Given the description of an element on the screen output the (x, y) to click on. 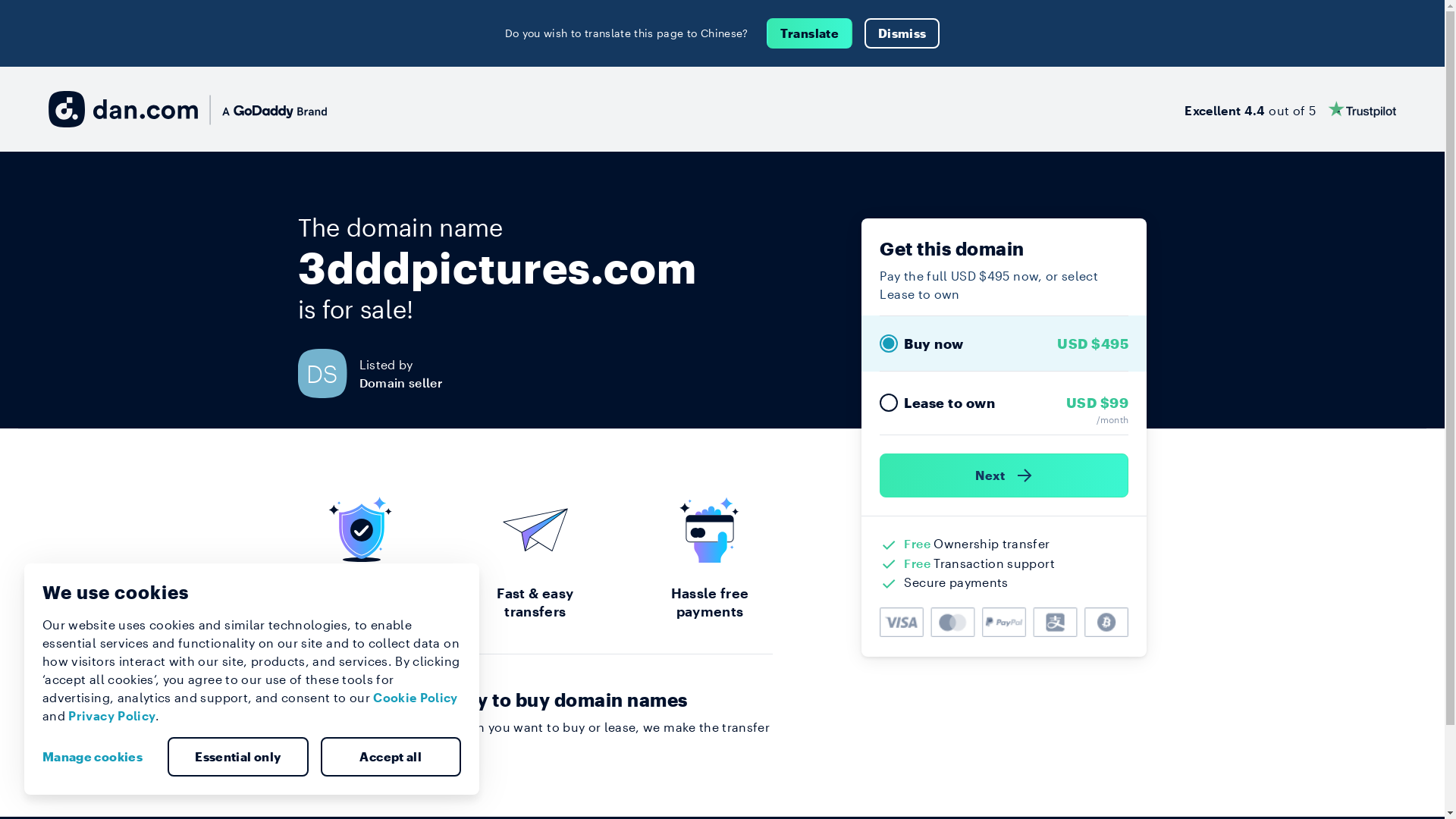
Translate Element type: text (809, 33)
Next
) Element type: text (1003, 475)
Privacy Policy Element type: text (111, 715)
Accept all Element type: text (390, 756)
DS Element type: text (327, 373)
Dismiss Element type: text (901, 33)
Excellent 4.4 out of 5 Element type: text (1290, 109)
Manage cookies Element type: text (98, 756)
Cookie Policy Element type: text (415, 697)
Essential only Element type: text (237, 756)
